Given the description of an element on the screen output the (x, y) to click on. 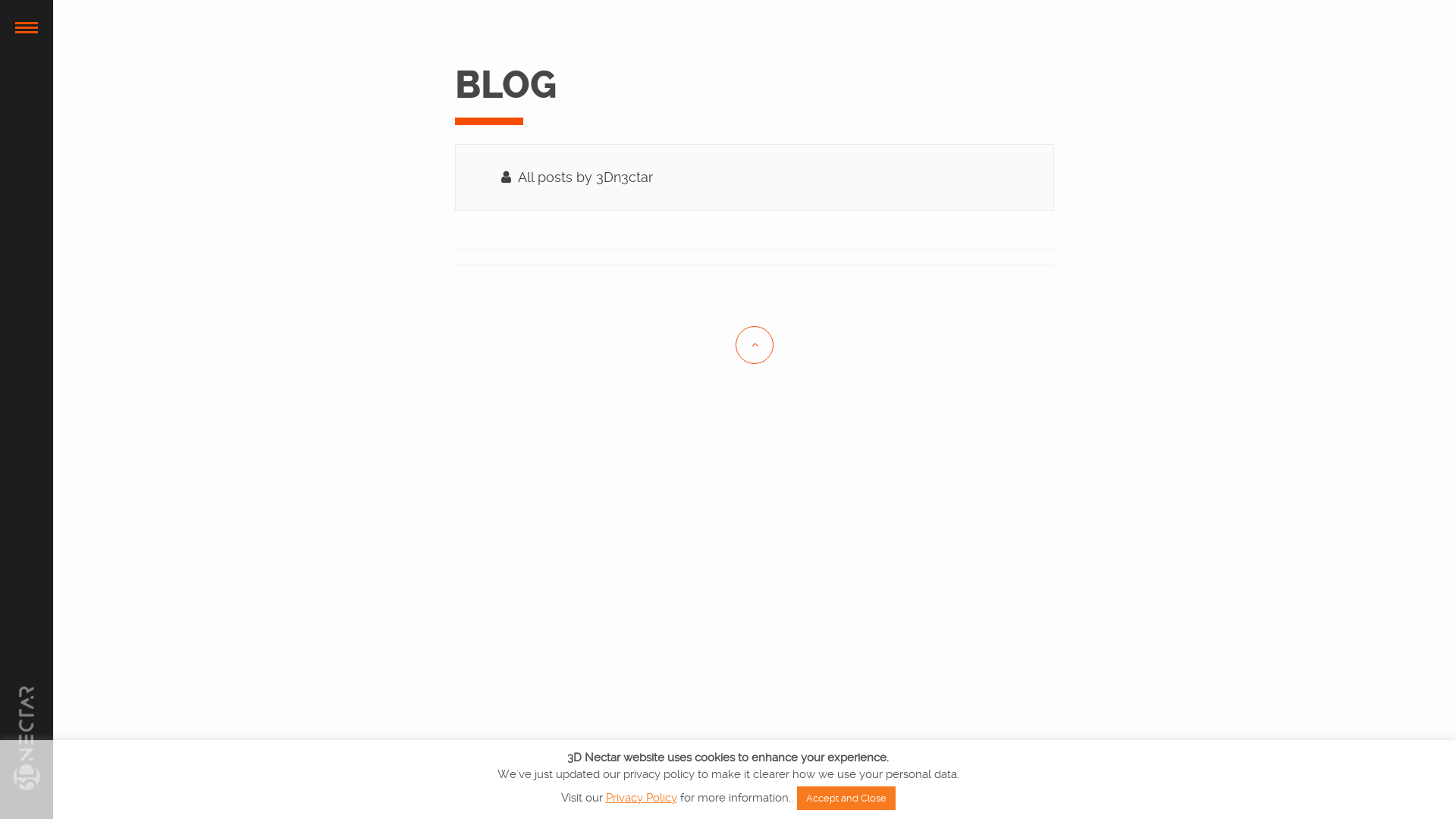
Accept and Close Element type: text (845, 797)
Privacy Policy Element type: text (640, 797)
